Given the description of an element on the screen output the (x, y) to click on. 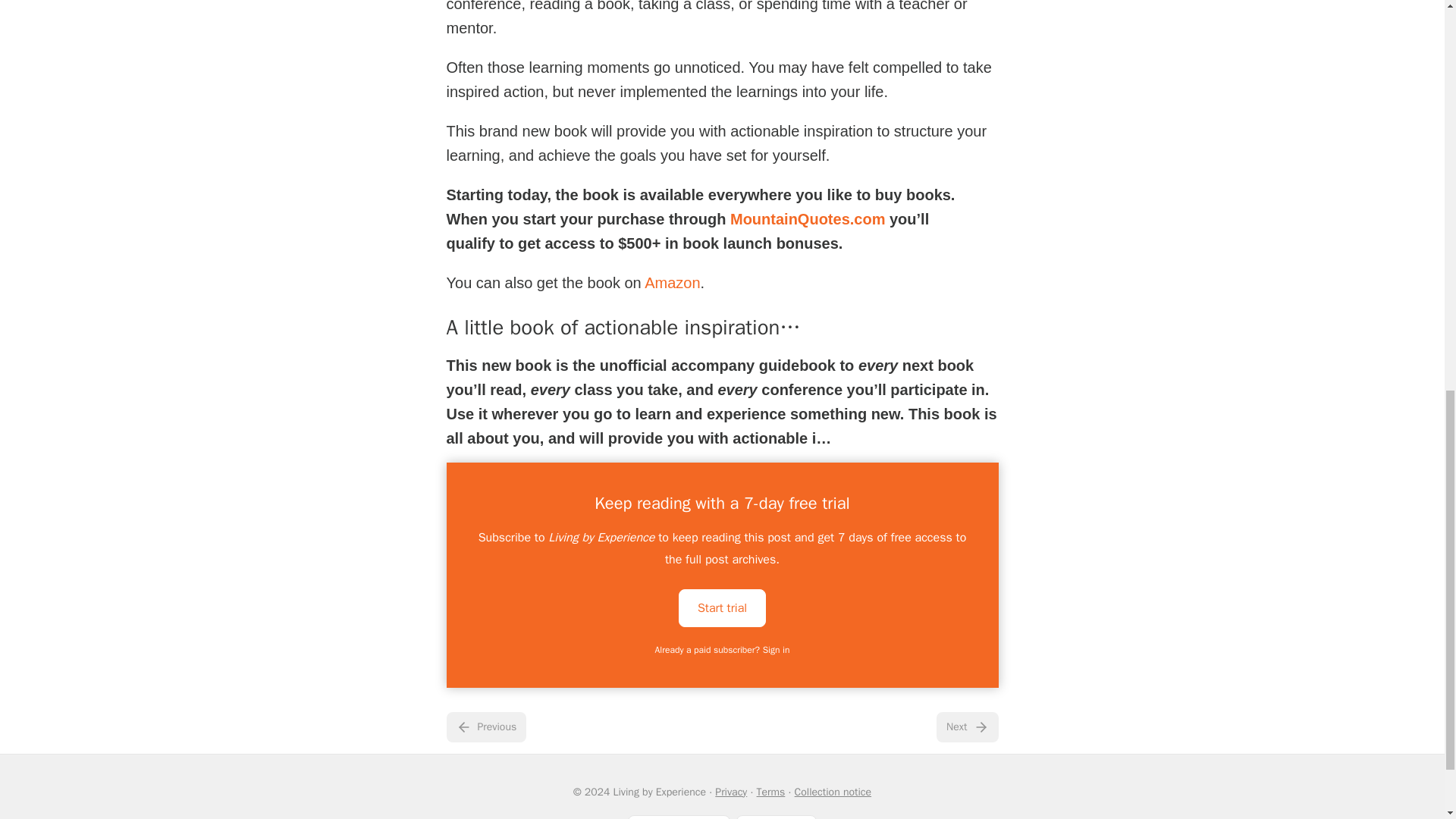
Privacy (730, 791)
Next (966, 726)
Terms (771, 791)
Already a paid subscriber? Sign in (722, 649)
Start trial (721, 606)
MountainQuotes.com (807, 218)
Amazon (672, 282)
Collection notice (832, 791)
Start trial (721, 607)
Start Writing (678, 816)
